Given the description of an element on the screen output the (x, y) to click on. 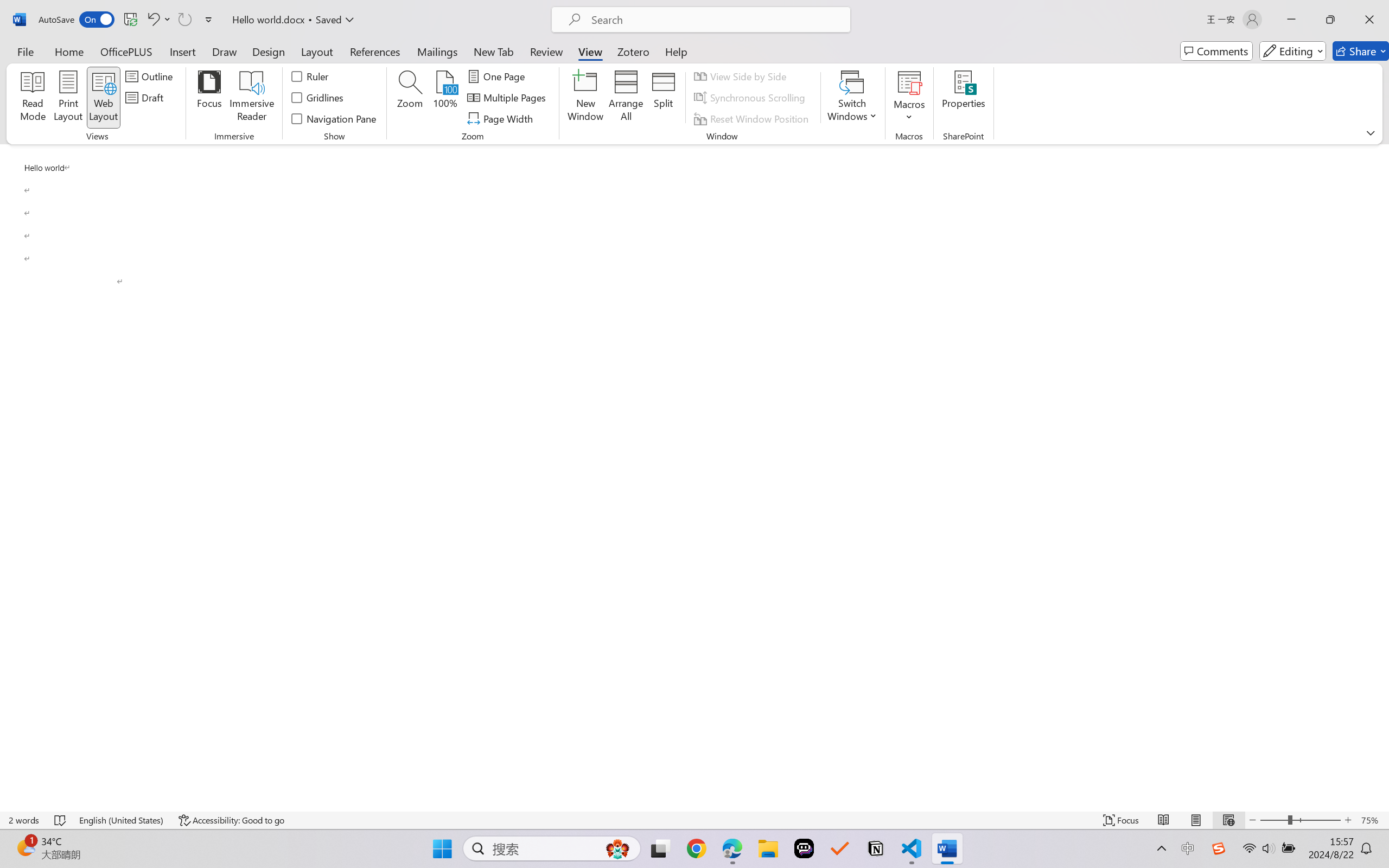
Zotero (632, 51)
Undo Paragraph Formatting (152, 19)
Switch Windows (852, 97)
Word Count 2 words (23, 819)
Split (663, 97)
View Side by Side (741, 75)
Class: Image (1218, 847)
Class: NetUIScrollBar (1382, 477)
View Macros (909, 81)
View (589, 51)
Accessibility Checker Accessibility: Good to go (231, 819)
Web Layout (1228, 819)
